Given the description of an element on the screen output the (x, y) to click on. 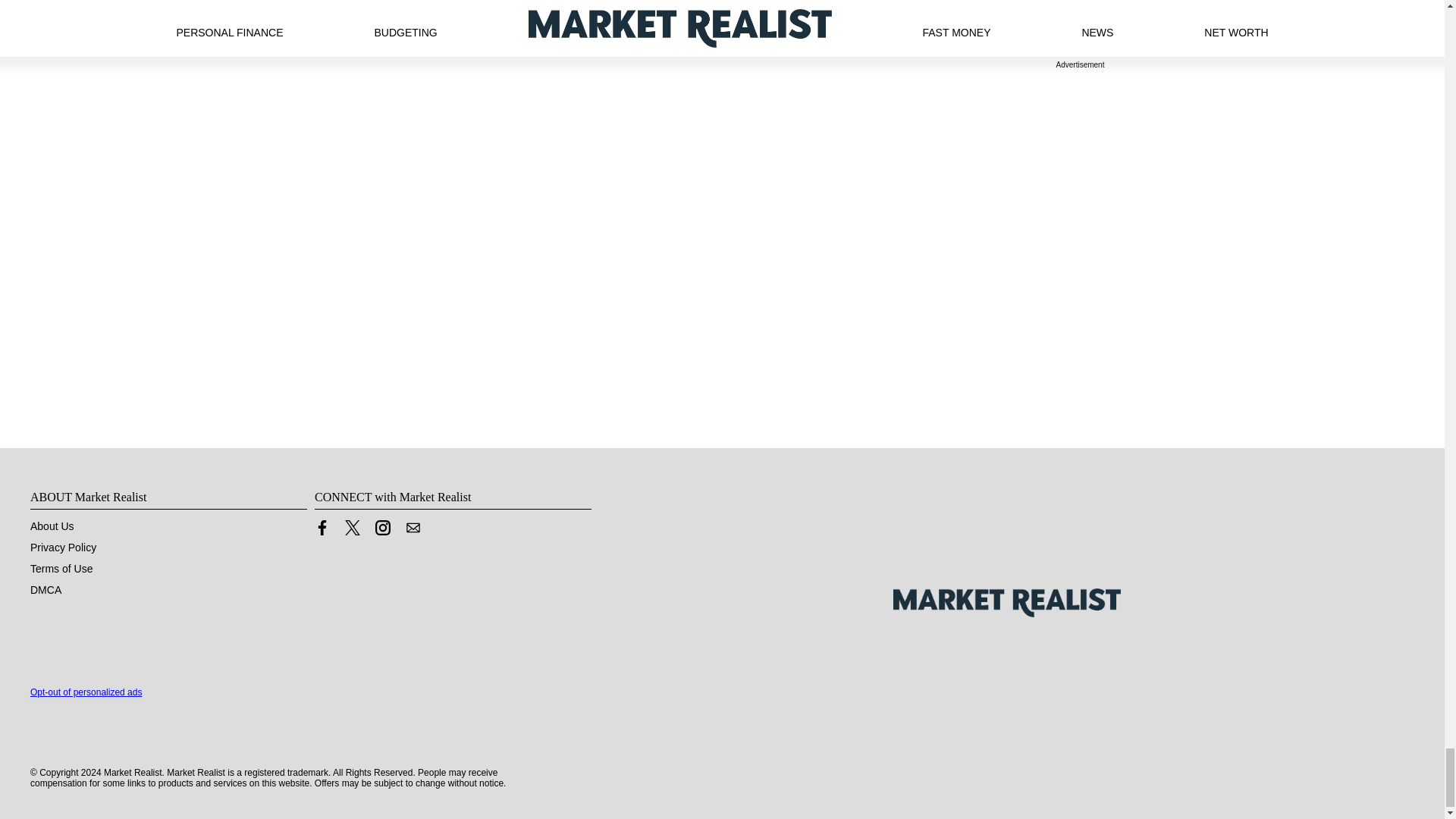
About Us (52, 526)
Terms of Use (61, 568)
Privacy Policy (63, 547)
Contact us by Email (413, 527)
Link to X (352, 527)
DMCA (45, 589)
Link to Facebook (322, 527)
Link to Instagram (382, 527)
